Given the description of an element on the screen output the (x, y) to click on. 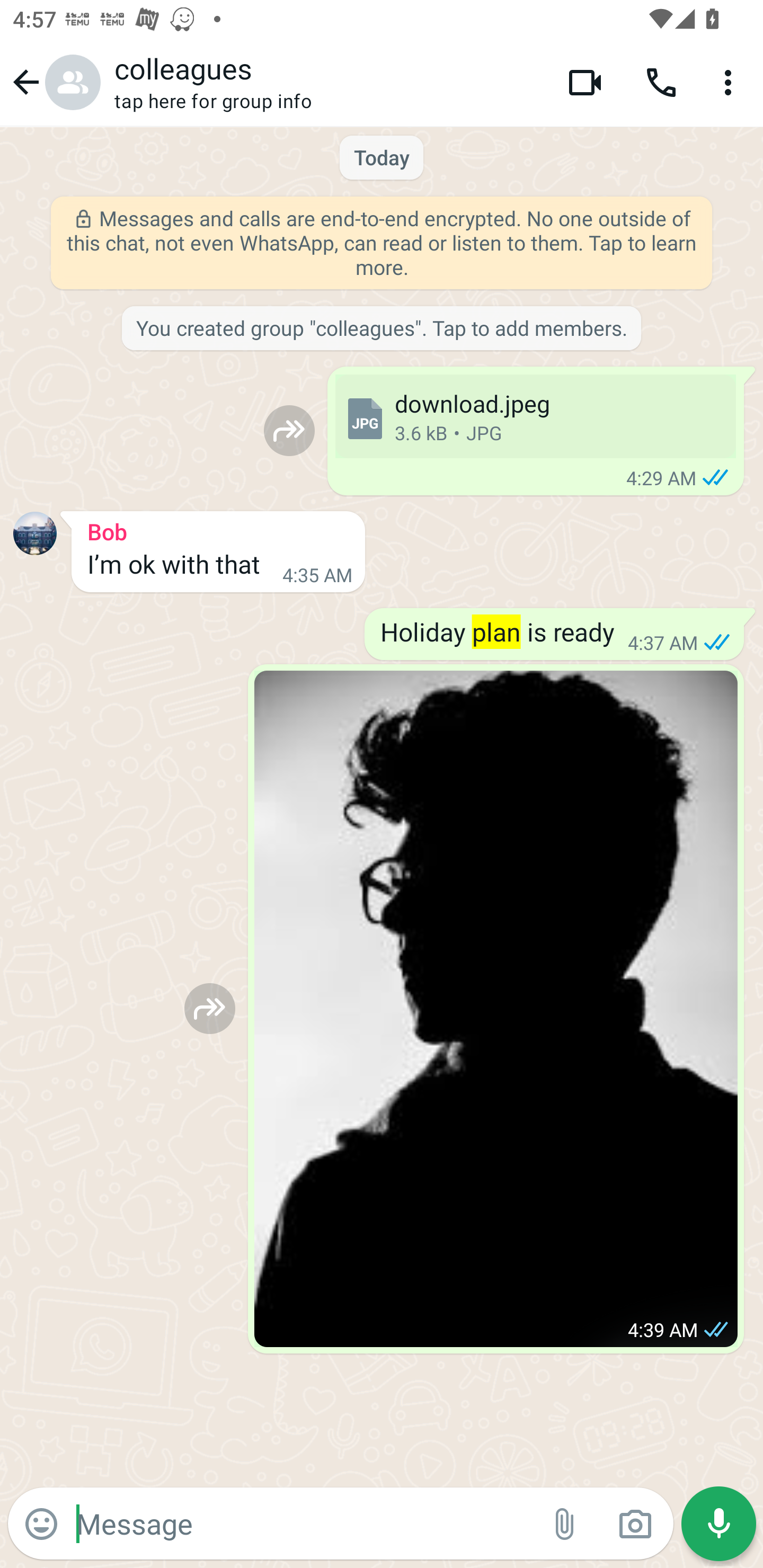
colleagues tap here for group info (327, 82)
Navigate up (54, 82)
Video call (585, 81)
Voice call (661, 81)
More options (731, 81)
download.jpeg 3.6 kB • JPG (535, 415)
Forward to… (288, 430)
Profile picture for Bob (34, 533)
Bob (217, 529)
View photo (495, 1008)
Forward to… (209, 1008)
Emoji (41, 1523)
Attach (565, 1523)
Camera (634, 1523)
Message (303, 1523)
